Given the description of an element on the screen output the (x, y) to click on. 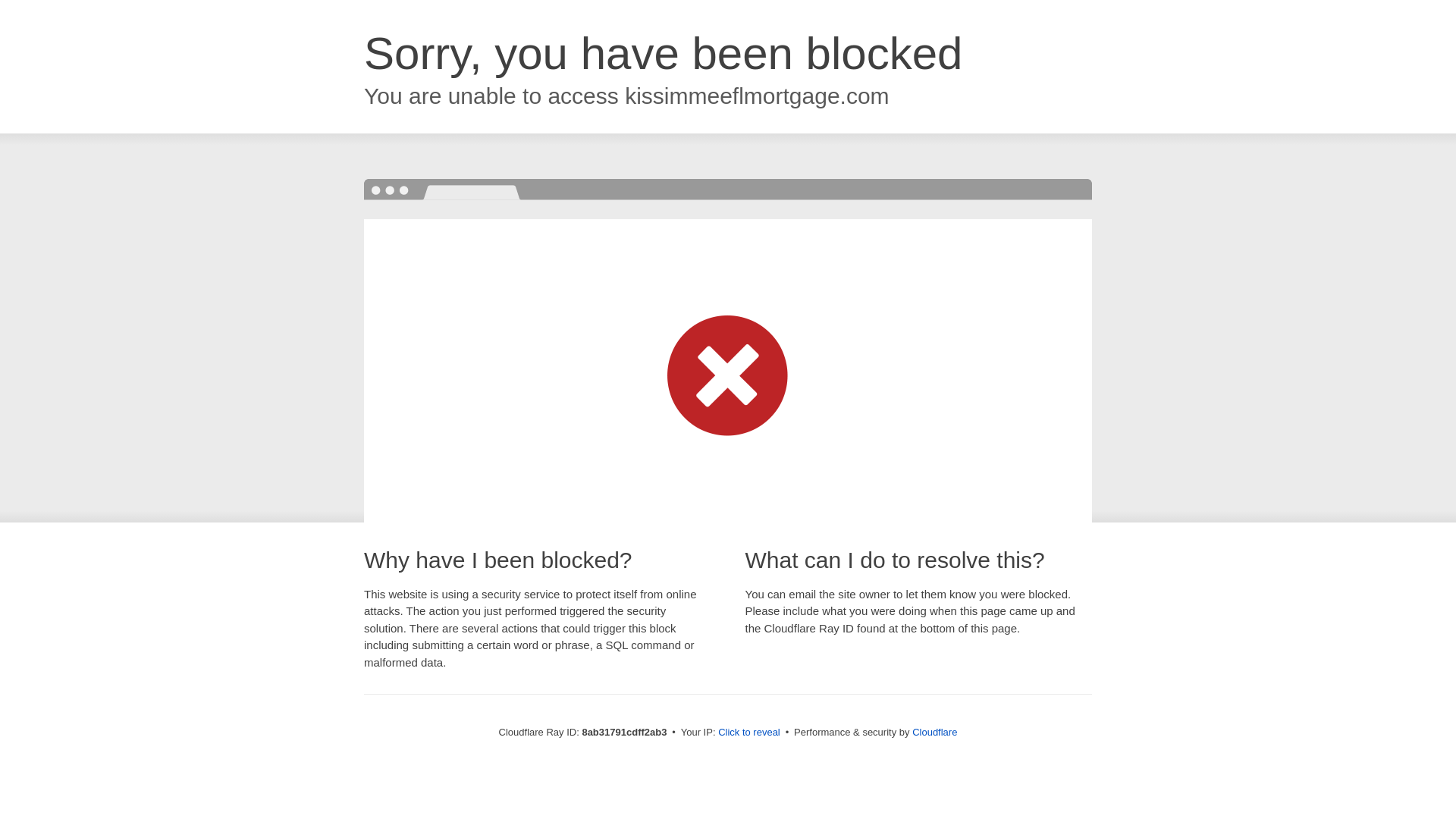
Click to reveal (748, 732)
Cloudflare (934, 731)
